Given the description of an element on the screen output the (x, y) to click on. 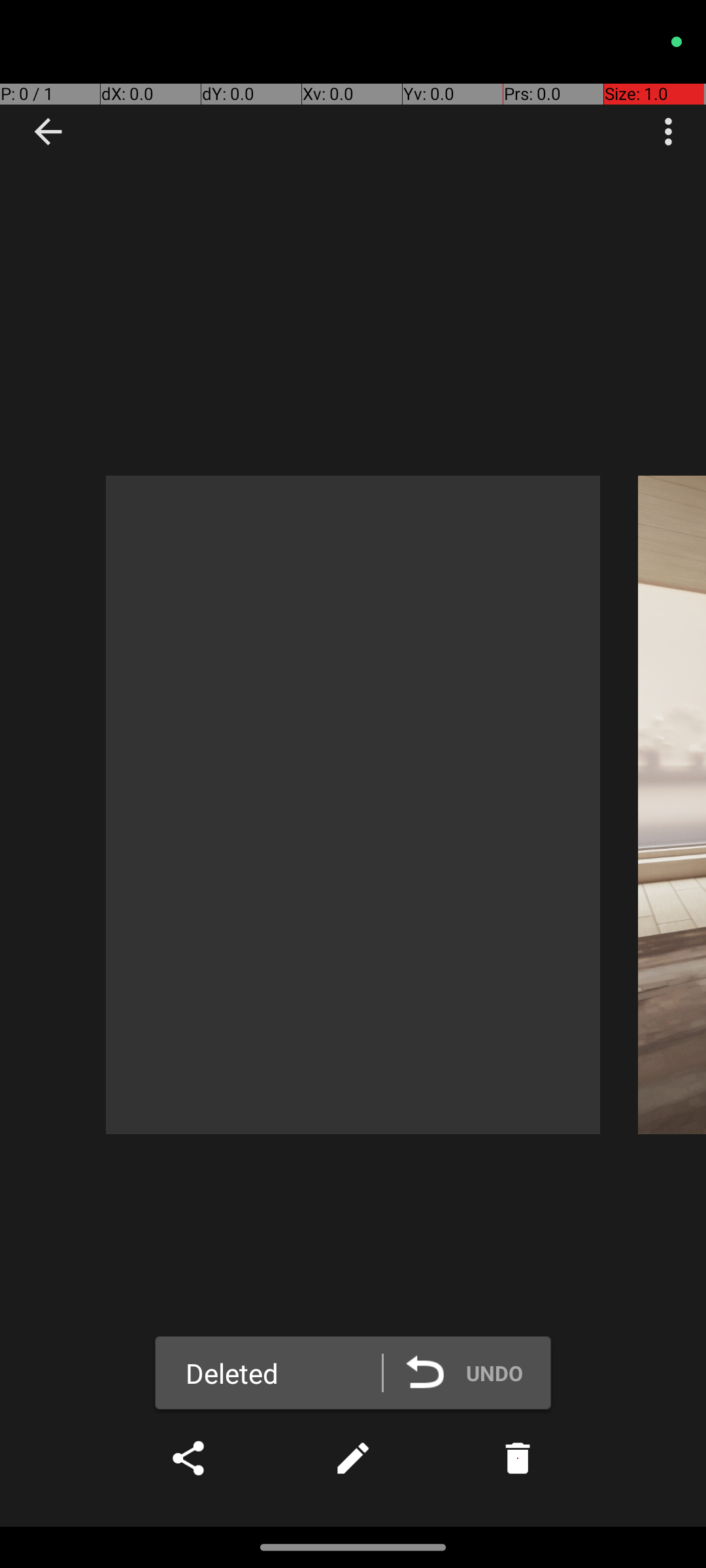
Edit Element type: android.widget.ImageButton (352, 1458)
Delete Element type: android.widget.ImageButton (517, 1458)
Navigate up Element type: android.widget.ImageButton (48, 131)
Photo taken on Oct 15, 2023 15:34:14 Element type: android.widget.ImageView (352, 804)
Photo taken on Oct 15, 2023 15:34:13 Element type: android.widget.ImageView (672, 804)
Deleted Element type: android.widget.TextView (231, 1372)
UNDO Element type: android.widget.TextView (473, 1372)
